Given the description of an element on the screen output the (x, y) to click on. 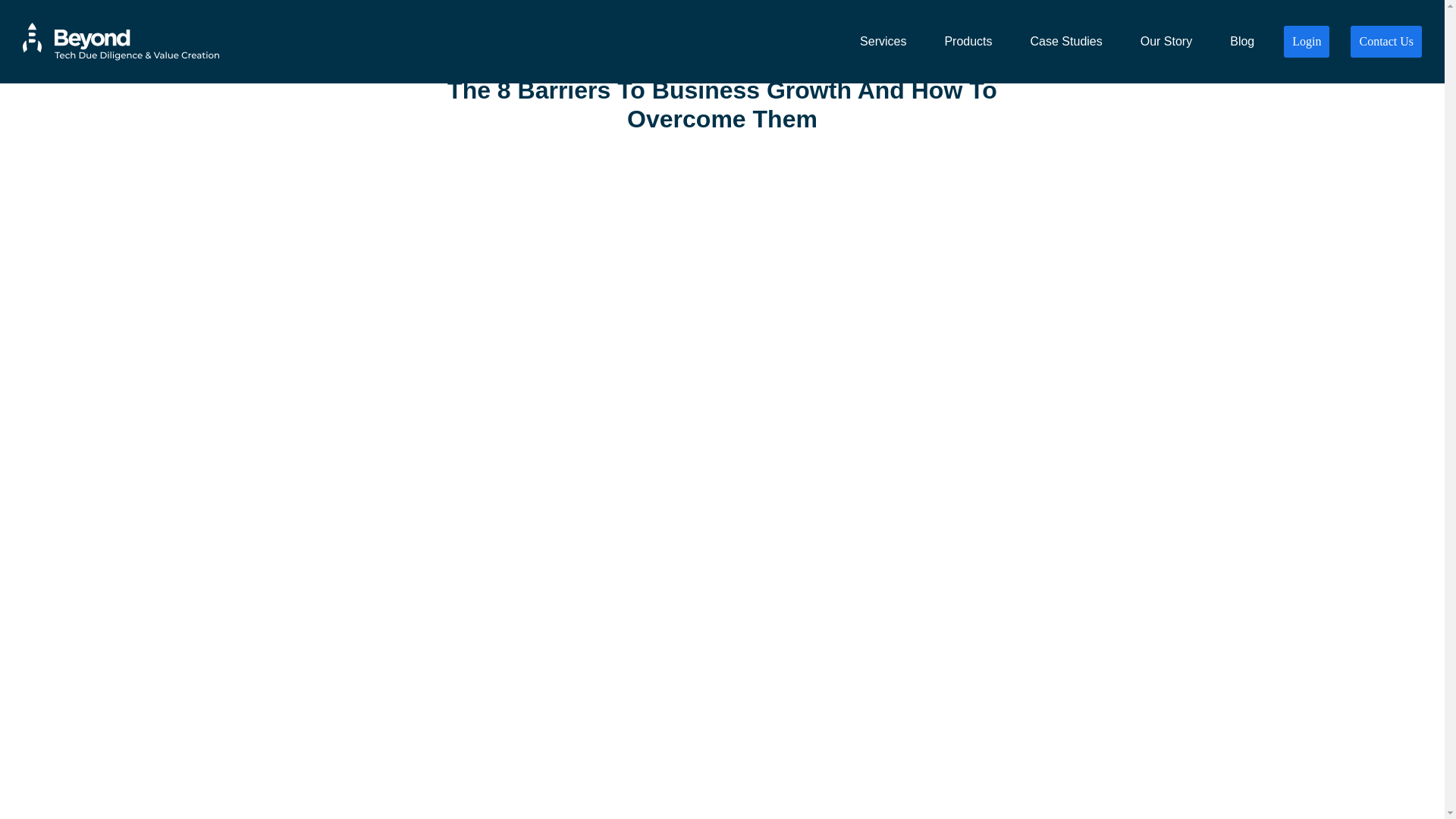
Contact Us (1386, 41)
Our Story (1166, 41)
Case Studies (1066, 41)
